Given the description of an element on the screen output the (x, y) to click on. 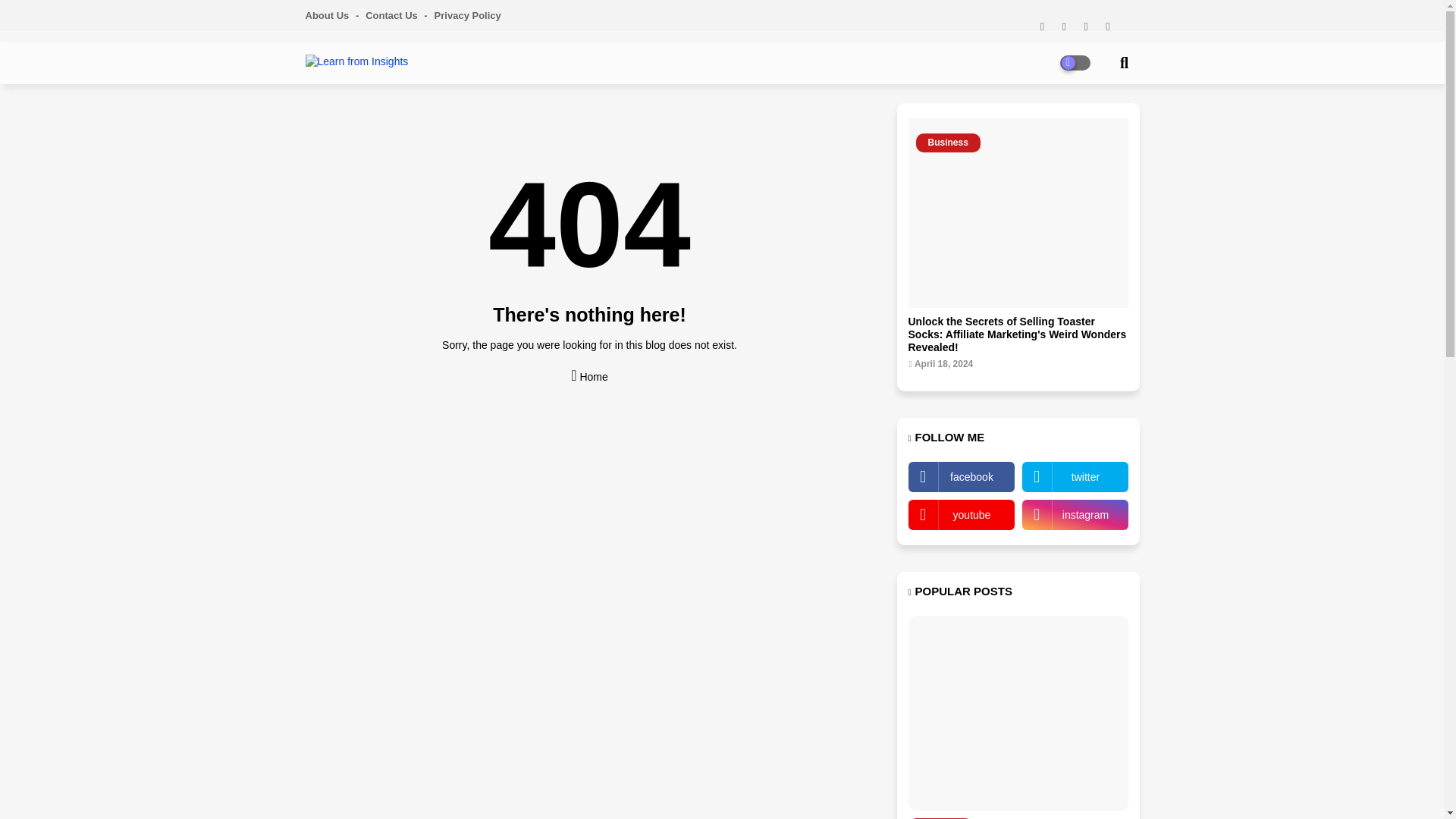
twitter (1075, 476)
Business (1018, 212)
instagram (1075, 514)
facebook (961, 476)
Home (588, 372)
instagram (1075, 514)
facebook (961, 476)
twitter (1075, 476)
youtube (961, 514)
About Us (333, 15)
youtube (961, 514)
Contact Us (397, 15)
